Given the description of an element on the screen output the (x, y) to click on. 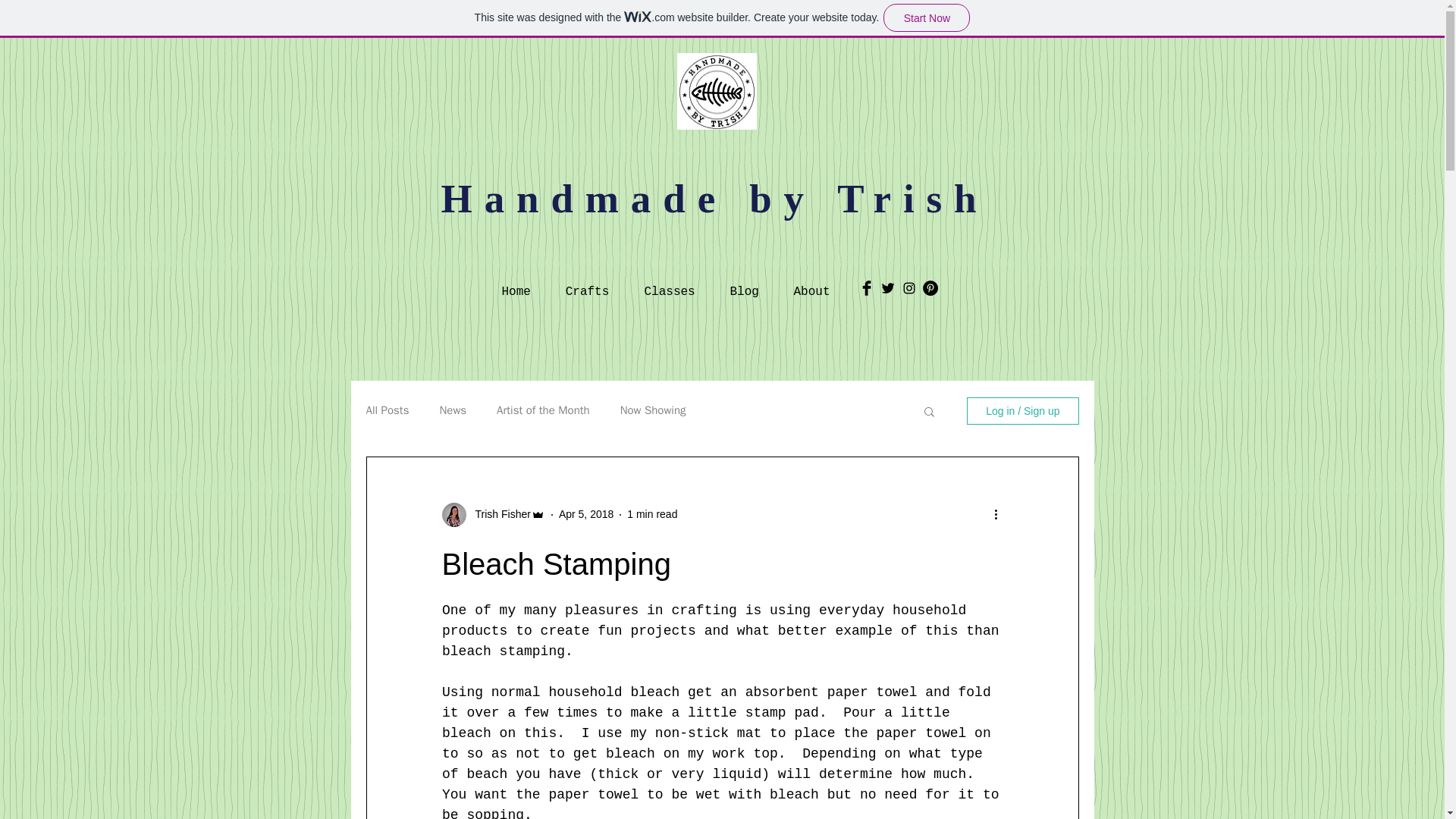
Crafts (586, 285)
About (811, 285)
All Posts (387, 410)
Classes (668, 285)
Now Showing (652, 410)
Trish Fisher (497, 514)
Artist of the Month (542, 410)
Apr 5, 2018 (585, 513)
Blog (744, 285)
Home (515, 285)
